Given the description of an element on the screen output the (x, y) to click on. 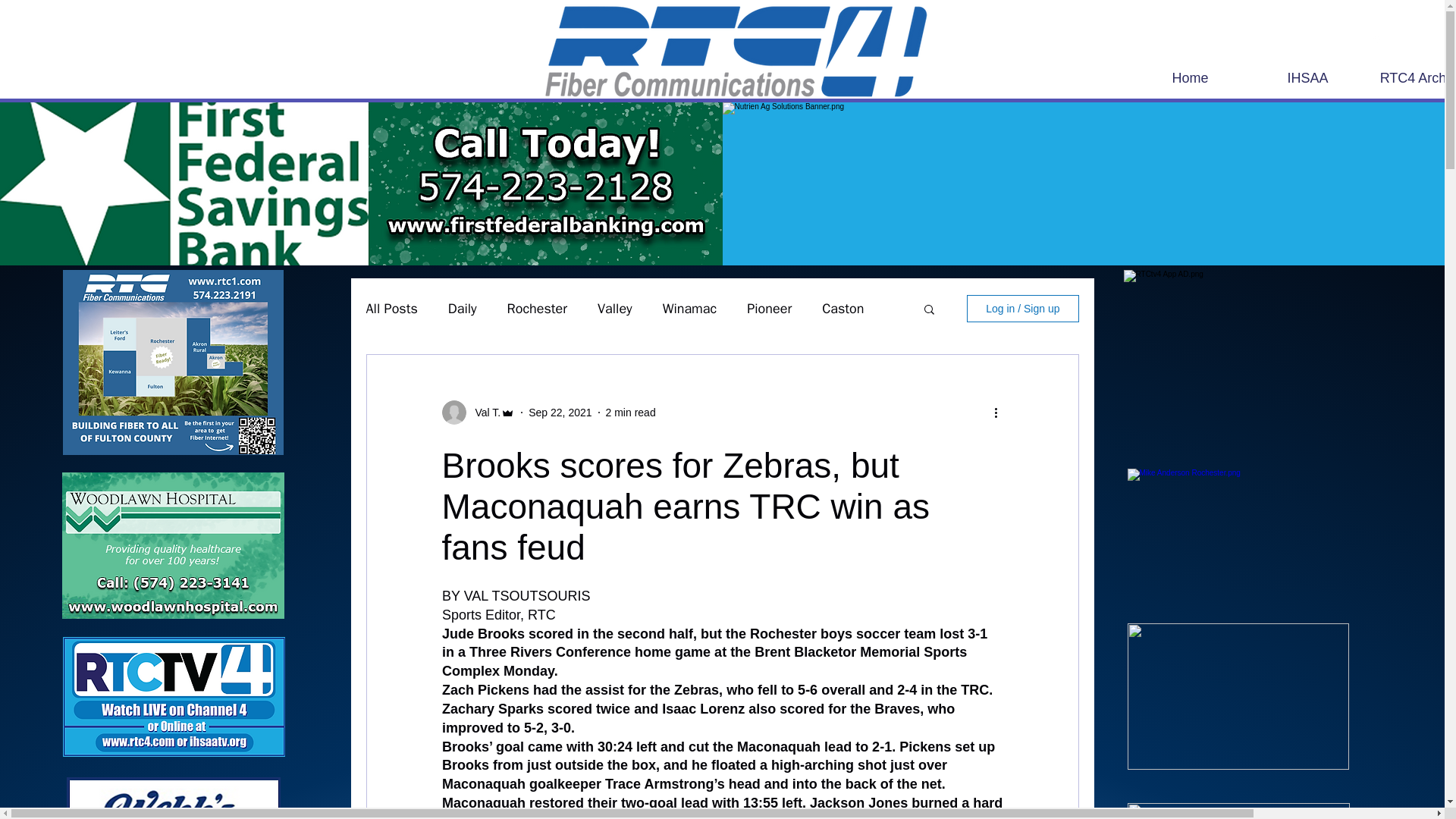
RTC4 Archives (1411, 77)
Daily (462, 308)
Valley (613, 308)
All Posts (390, 308)
IHSAA (1308, 77)
Home (1190, 77)
Caston (842, 308)
Val T. (482, 412)
Sep 22, 2021 (559, 412)
Rochester (536, 308)
Pioneer (769, 308)
Winamac (689, 308)
2 min read (630, 412)
